Given the description of an element on the screen output the (x, y) to click on. 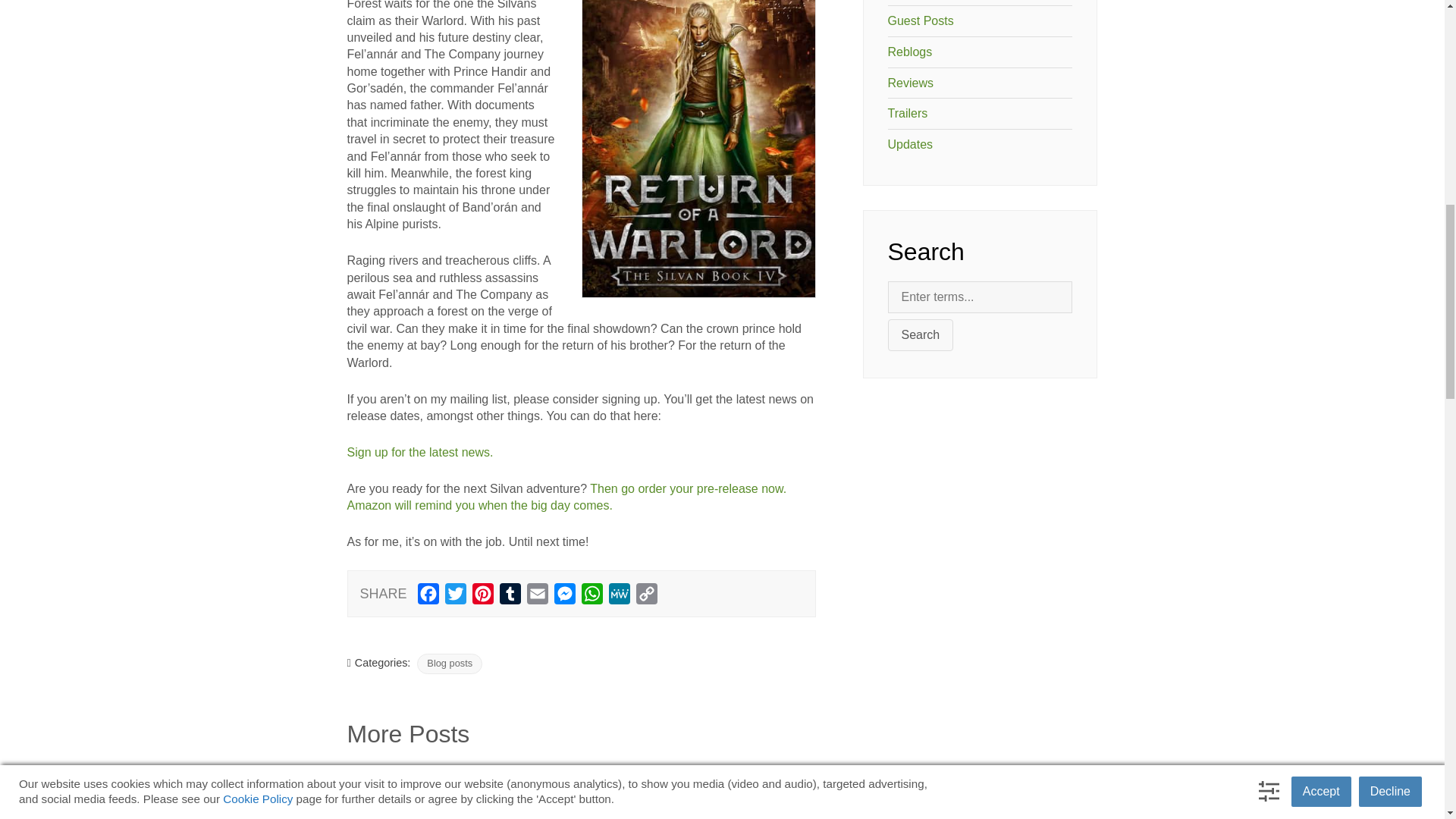
WhatsApp (591, 596)
Twitter (455, 596)
Pinterest (482, 596)
Messenger (564, 596)
Tumblr (510, 596)
Facebook (428, 596)
Copy Link (647, 596)
Messenger (564, 596)
MeWe (619, 596)
